Given the description of an element on the screen output the (x, y) to click on. 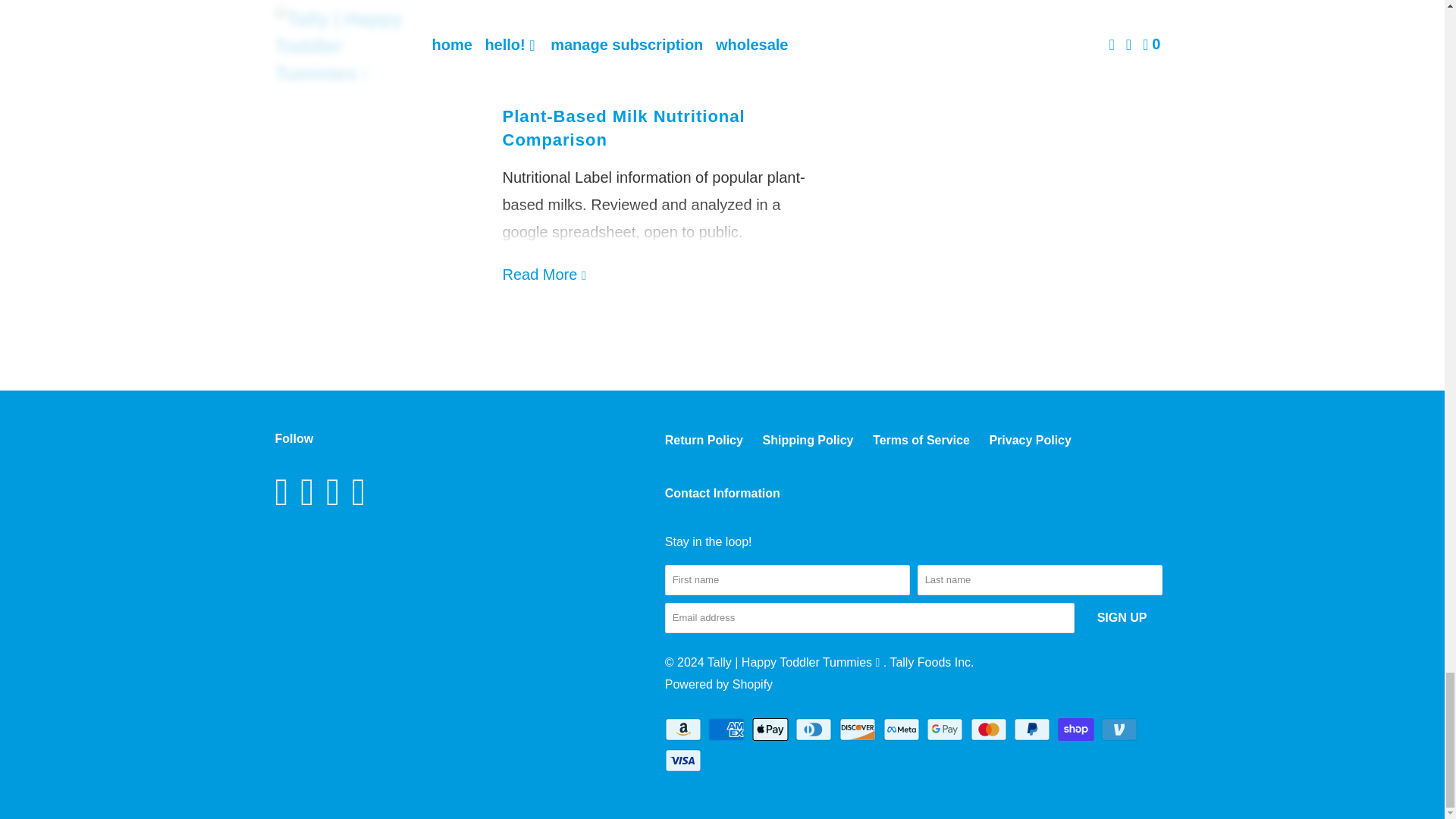
Meta Pay (903, 729)
Mastercard (990, 729)
Sign Up (1121, 617)
PayPal (1032, 729)
Apple Pay (772, 729)
American Express (727, 729)
Google Pay (946, 729)
Diners Club (814, 729)
Visa (684, 760)
Discover (859, 729)
Amazon (684, 729)
Venmo (1120, 729)
Shop Pay (1077, 729)
